Given the description of an element on the screen output the (x, y) to click on. 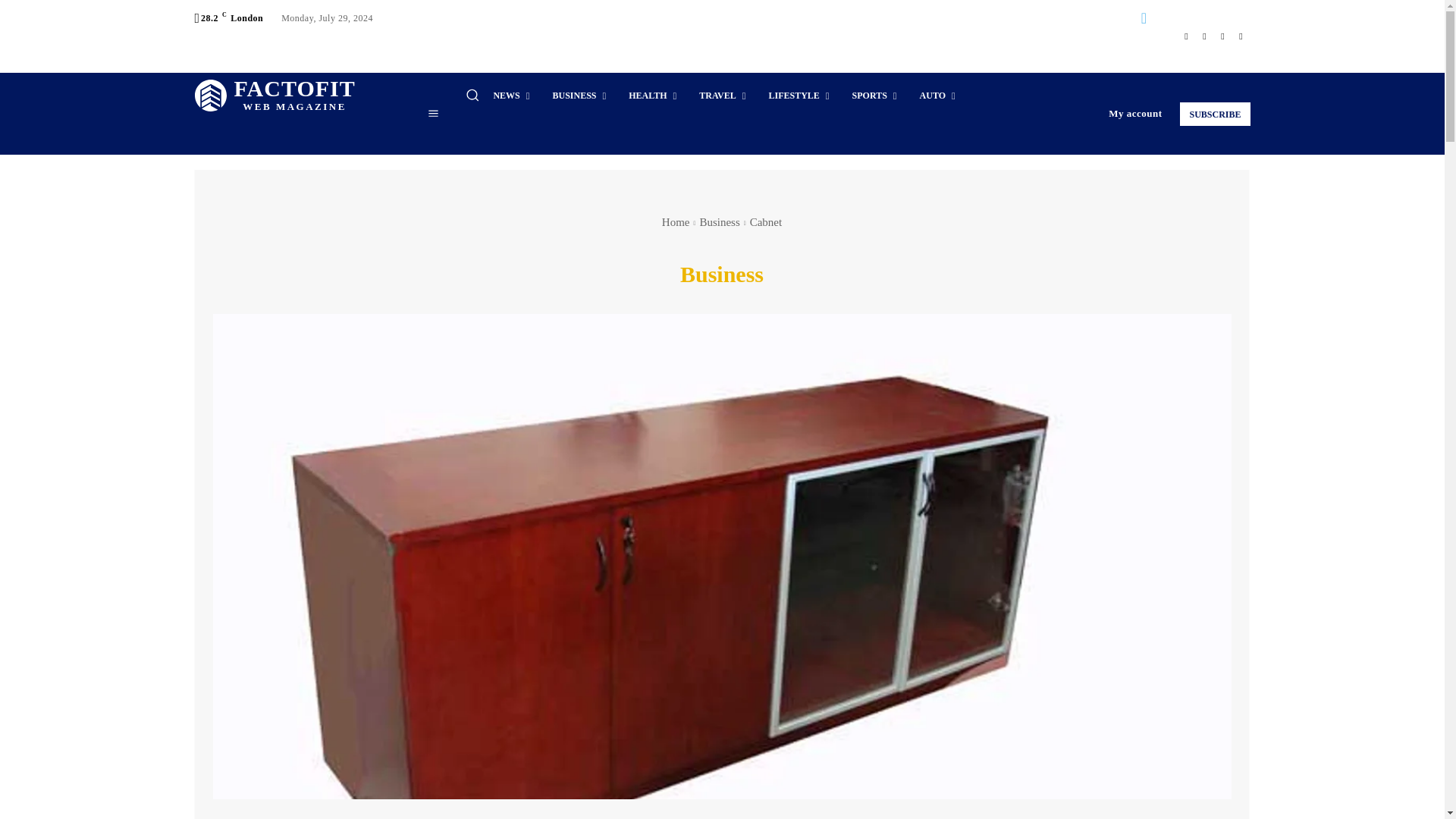
Instagram (1203, 36)
Facebook (1185, 36)
Twitter (1221, 36)
Youtube (274, 95)
